Given the description of an element on the screen output the (x, y) to click on. 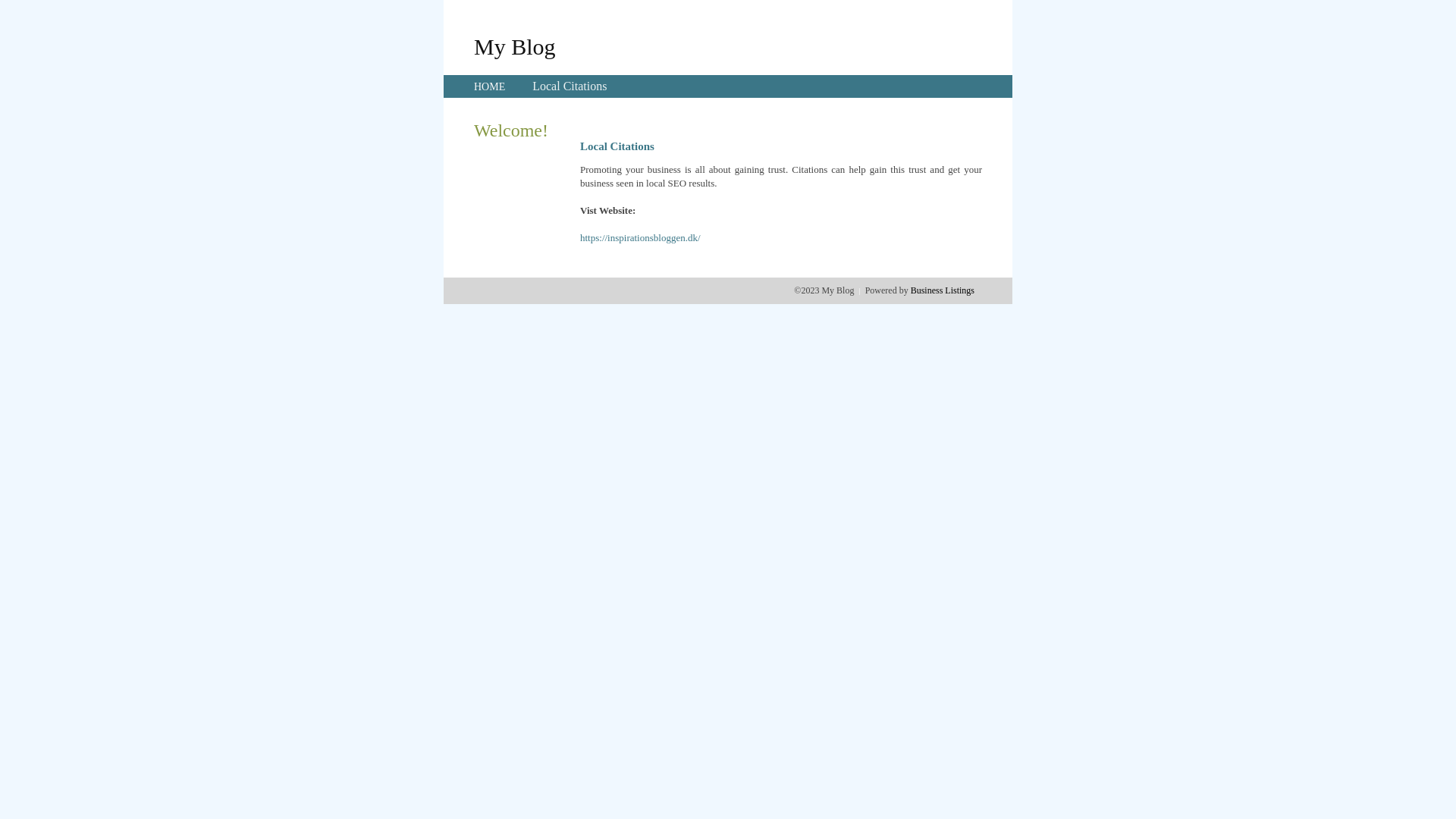
Local Citations Element type: text (569, 85)
Business Listings Element type: text (942, 290)
HOME Element type: text (489, 86)
https://inspirationsbloggen.dk/ Element type: text (640, 237)
My Blog Element type: text (514, 46)
